Given the description of an element on the screen output the (x, y) to click on. 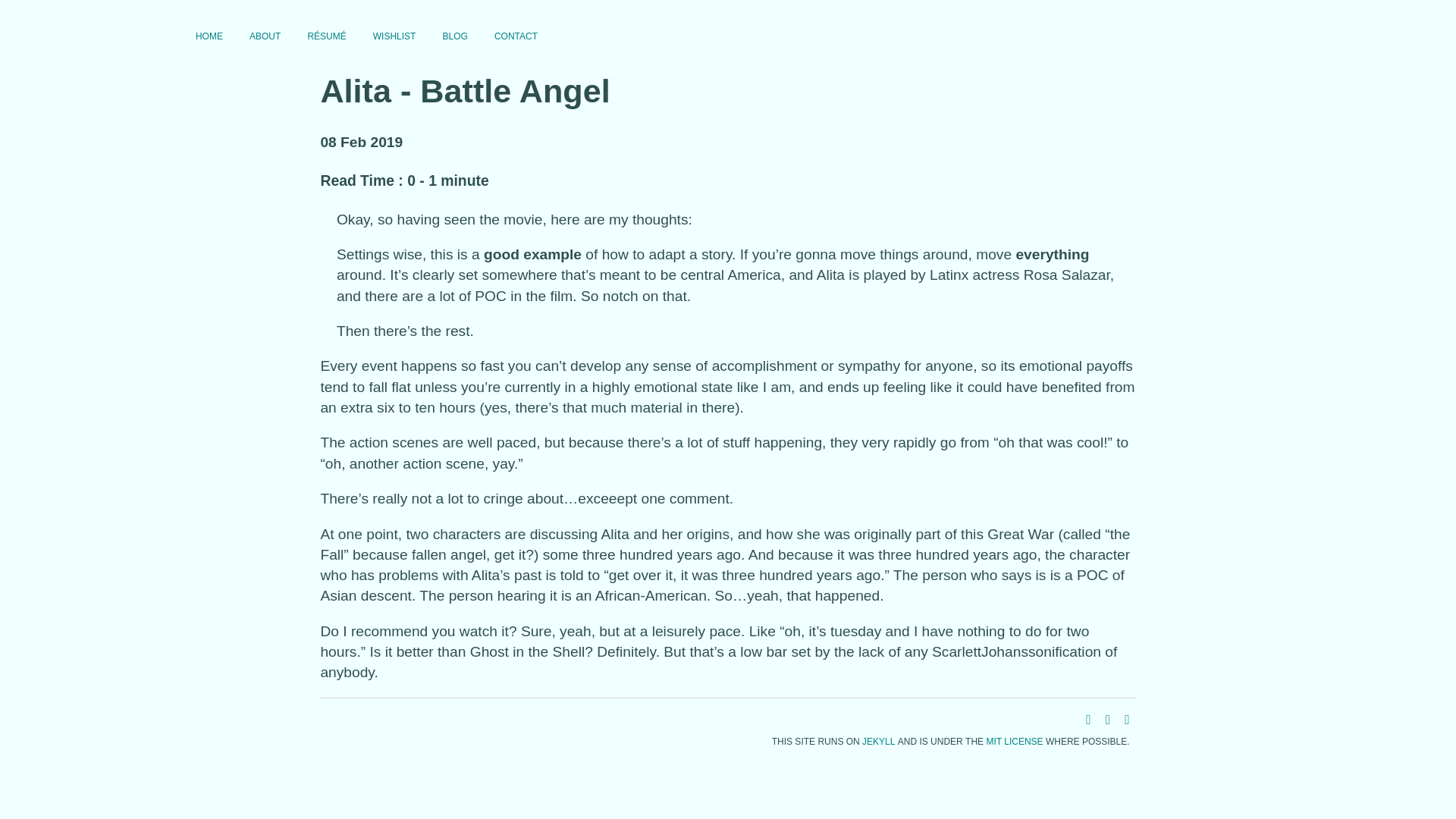
Wishlist (394, 34)
Blog (454, 34)
Home (208, 34)
Contact (516, 34)
About (264, 34)
